Given the description of an element on the screen output the (x, y) to click on. 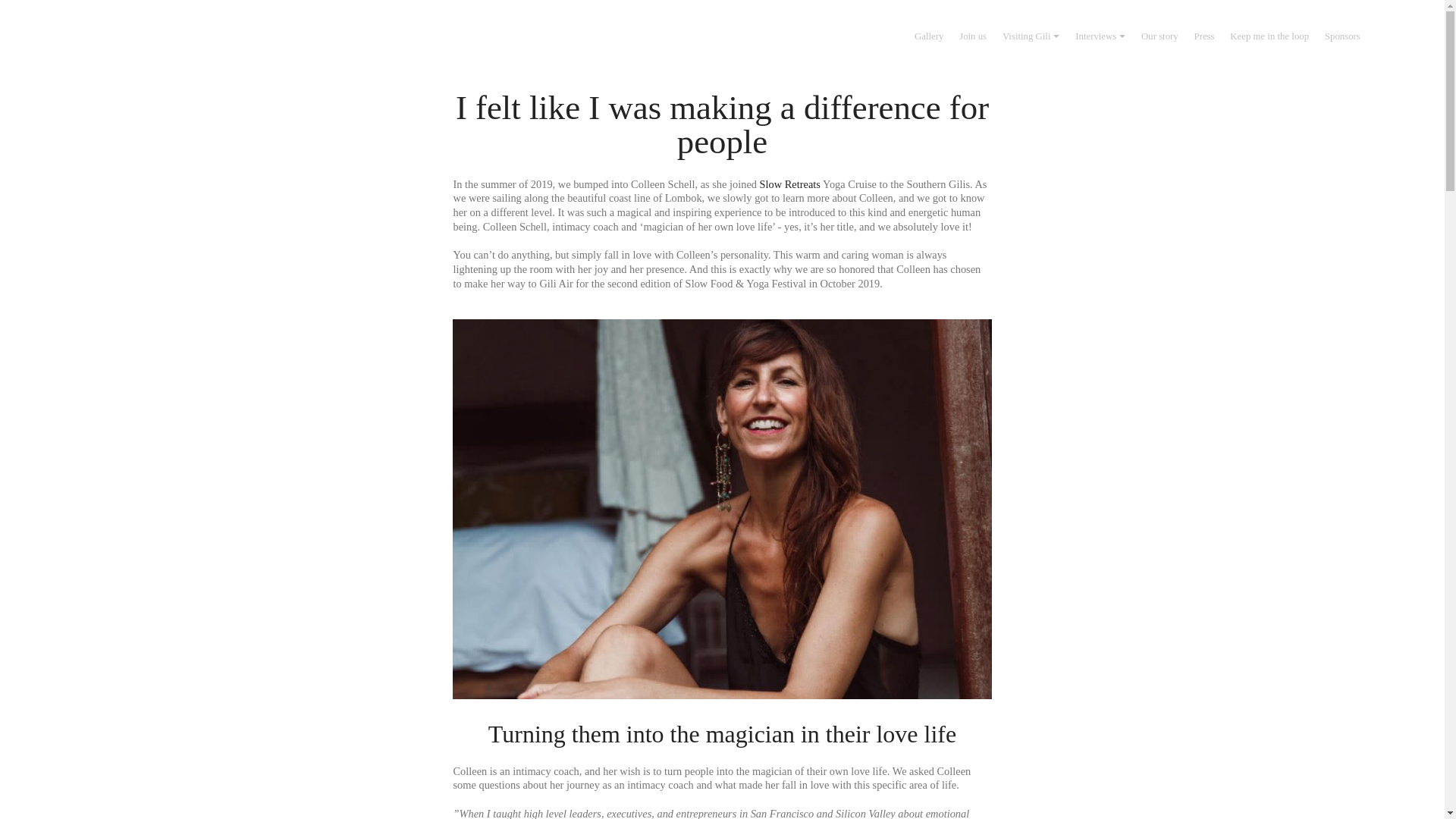
Gallery (928, 35)
Visiting Gili (1031, 35)
Join us (973, 35)
Interviews (1100, 35)
